Given the description of an element on the screen output the (x, y) to click on. 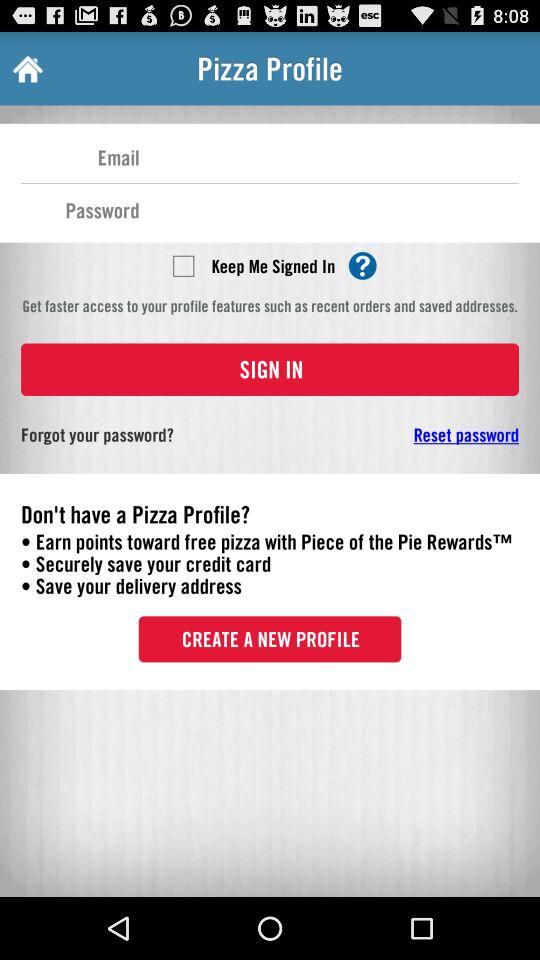
swipe to the sign in button (270, 369)
